Given the description of an element on the screen output the (x, y) to click on. 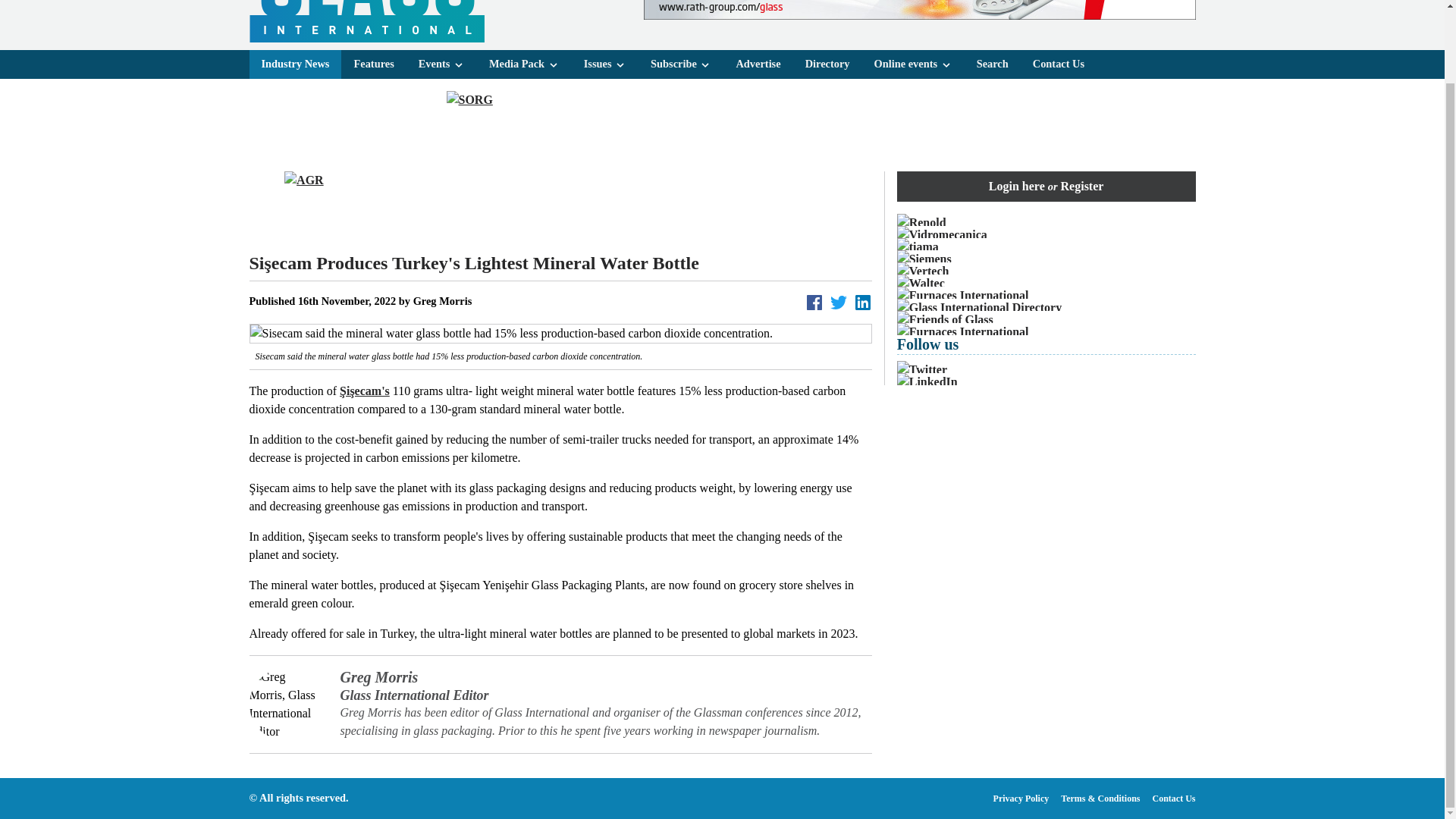
Media Pack (524, 63)
Vidromecanica (1045, 235)
Furnaces International (1045, 295)
Siemens (1045, 259)
Features (373, 63)
Online events (912, 64)
Issues (605, 63)
Glass International Directory (1045, 307)
Share on Twitter (838, 302)
Contact Us (1058, 63)
